Given the description of an element on the screen output the (x, y) to click on. 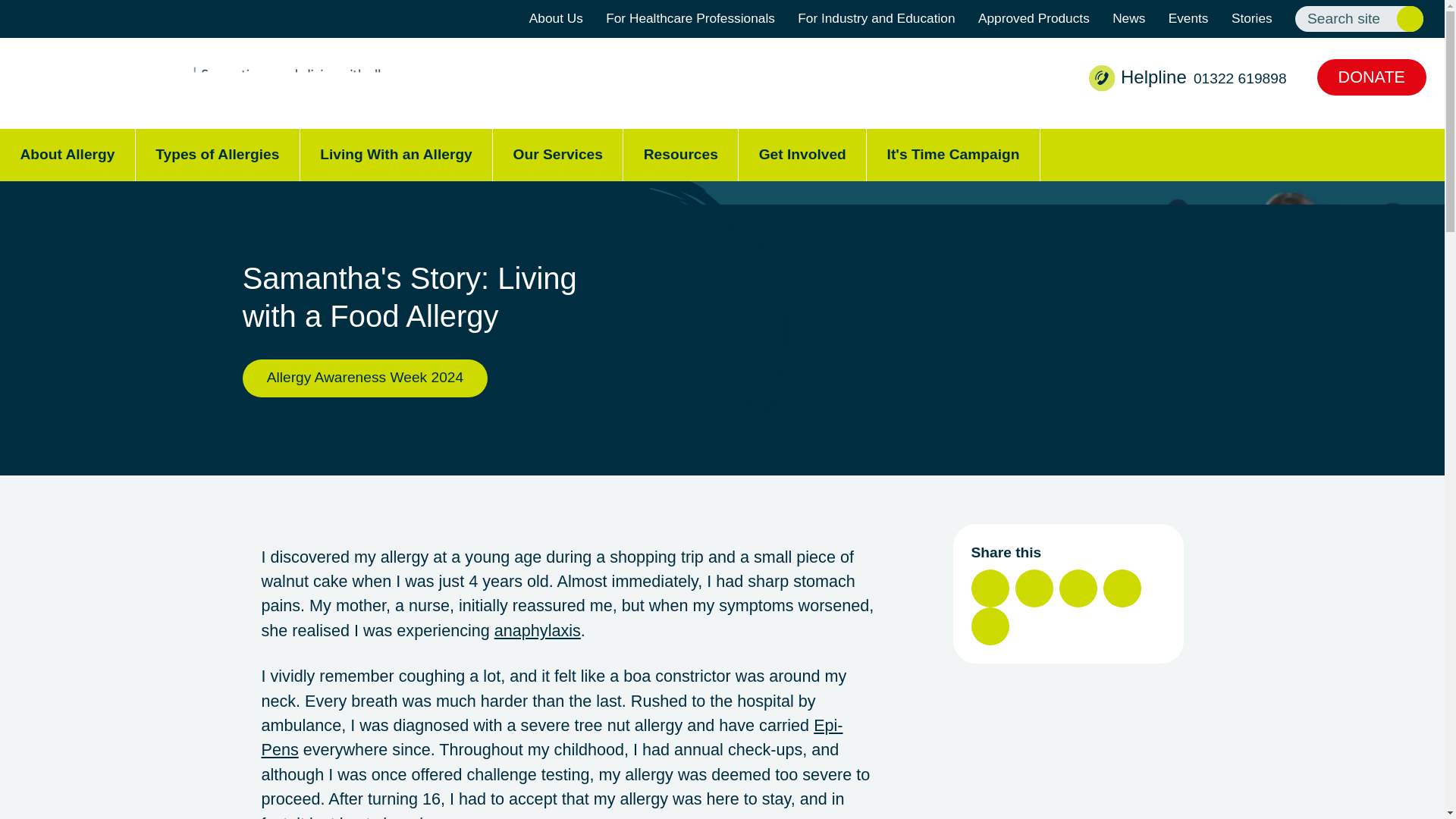
Our Services (558, 154)
About Us (556, 19)
01322 619898 (1240, 78)
DONATE (1371, 76)
Living With an Allergy (396, 154)
For Healthcare Professionals (689, 19)
About Allergy (67, 154)
Stories (1251, 19)
Approved Products (1033, 19)
News (1128, 19)
For Industry and Education (876, 19)
Events (1188, 19)
Types of Allergies (217, 154)
